Given the description of an element on the screen output the (x, y) to click on. 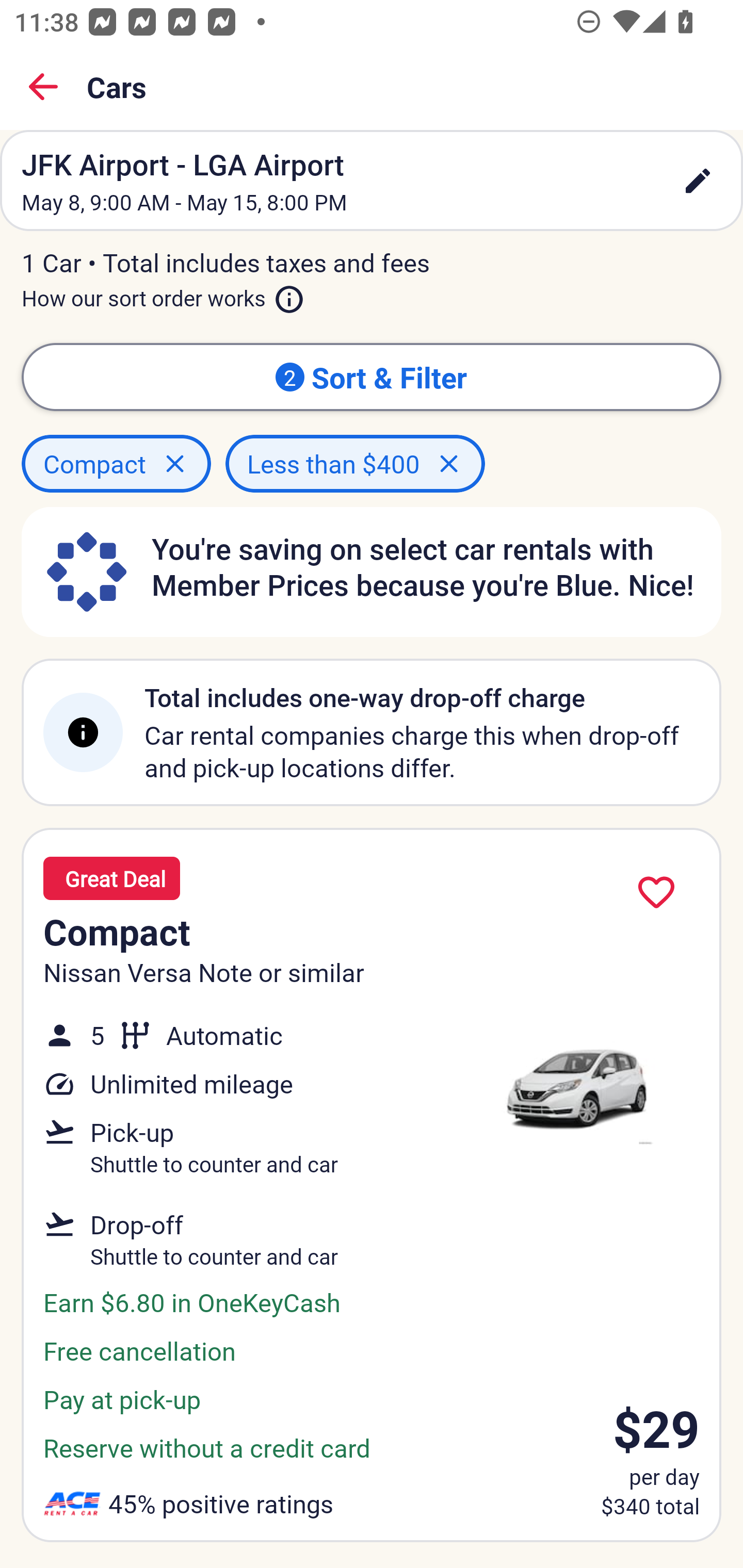
Back (43, 86)
edit (697, 180)
How our sort order works (163, 294)
2 Sort & Filter (371, 376)
